Given the description of an element on the screen output the (x, y) to click on. 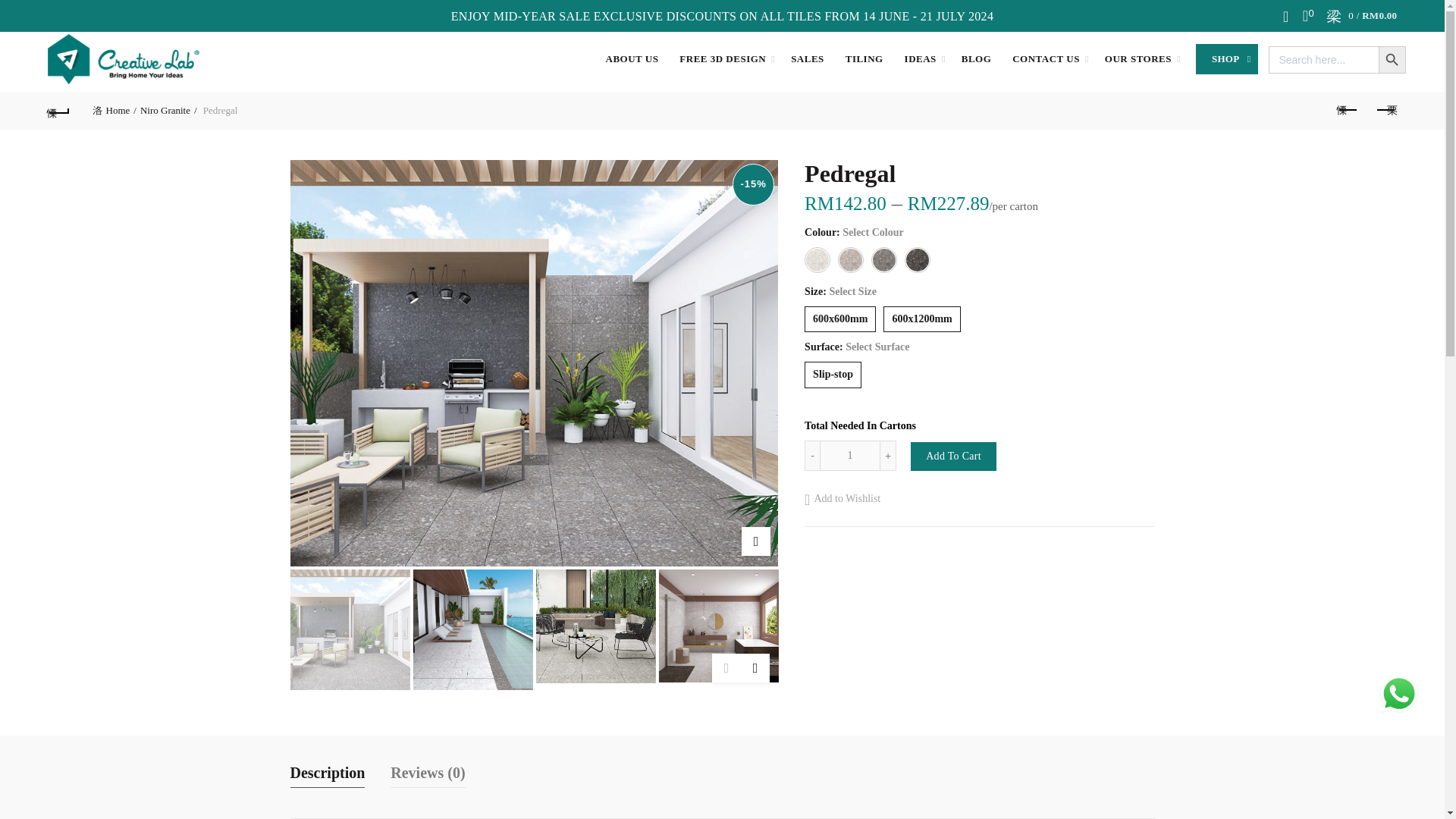
ABOUT US (631, 58)
1 (849, 455)
My Account (1287, 15)
